Given the description of an element on the screen output the (x, y) to click on. 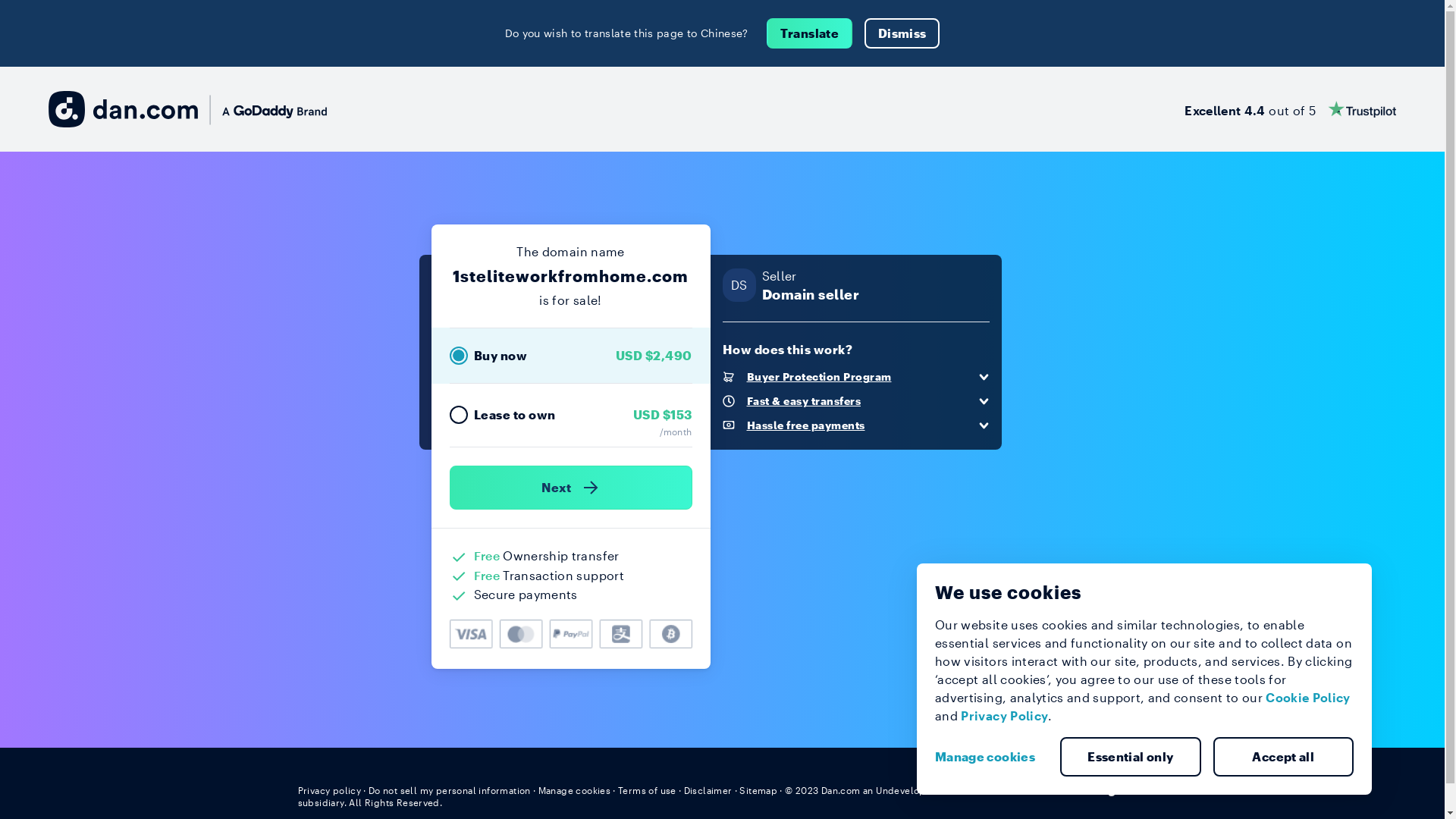
Translate Element type: text (809, 33)
Do not sell my personal information Element type: text (449, 789)
Cookie Policy Element type: text (1307, 697)
Disclaimer Element type: text (708, 789)
Dismiss Element type: text (901, 33)
Privacy Policy Element type: text (1004, 715)
Accept all Element type: text (1283, 756)
Essential only Element type: text (1130, 756)
Excellent 4.4 out of 5 Element type: text (1290, 109)
Manage cookies Element type: text (991, 756)
Next
) Element type: text (569, 487)
Privacy policy Element type: text (328, 789)
Sitemap Element type: text (758, 789)
Manage cookies Element type: text (574, 790)
English Element type: text (1119, 789)
Terms of use Element type: text (647, 789)
